Given the description of an element on the screen output the (x, y) to click on. 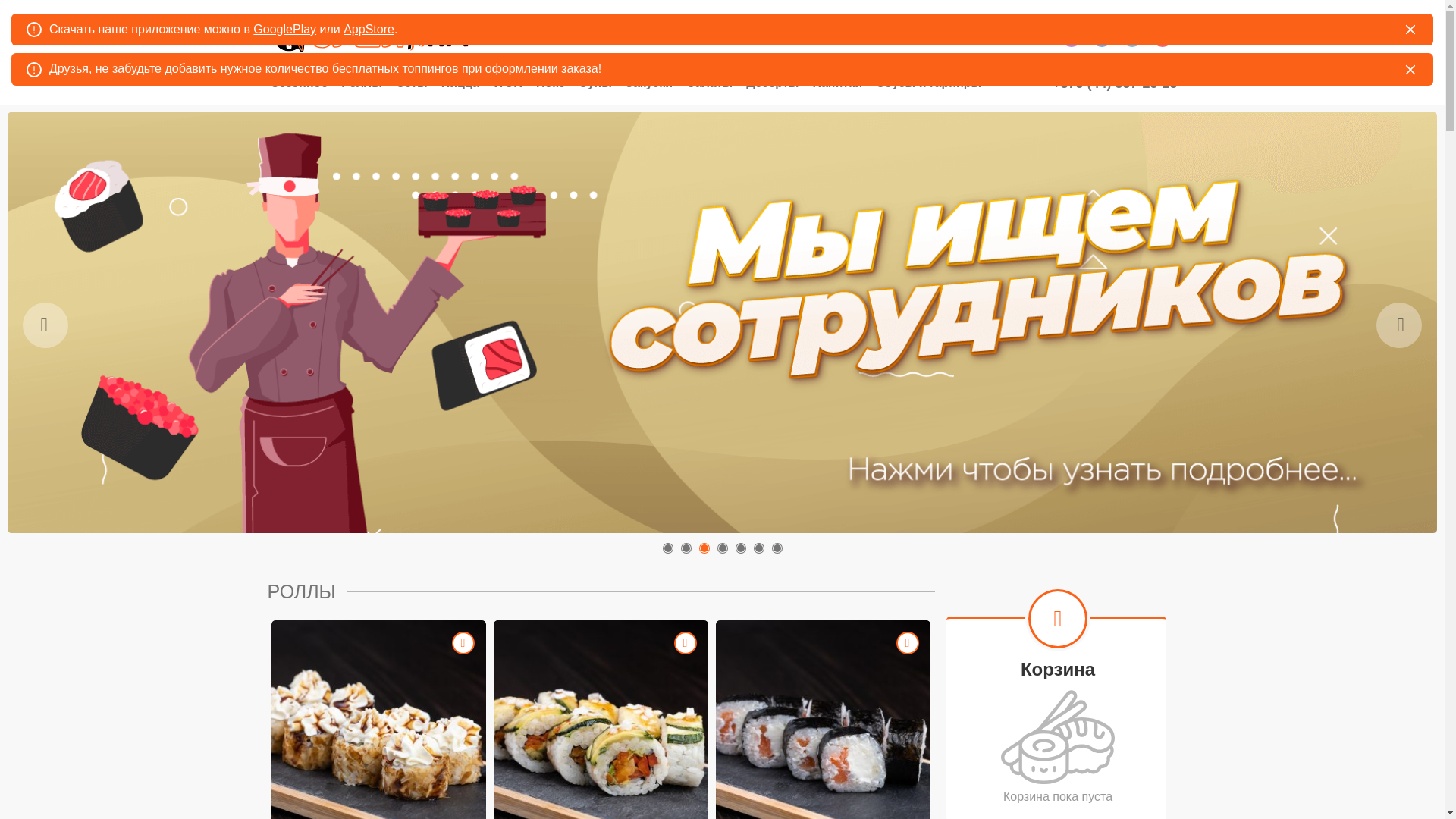
GooglePlay Element type: text (284, 28)
WOK Element type: text (507, 83)
AppStore Element type: text (368, 28)
+375 (44) 557-25-25 Element type: text (1114, 83)
